Given the description of an element on the screen output the (x, y) to click on. 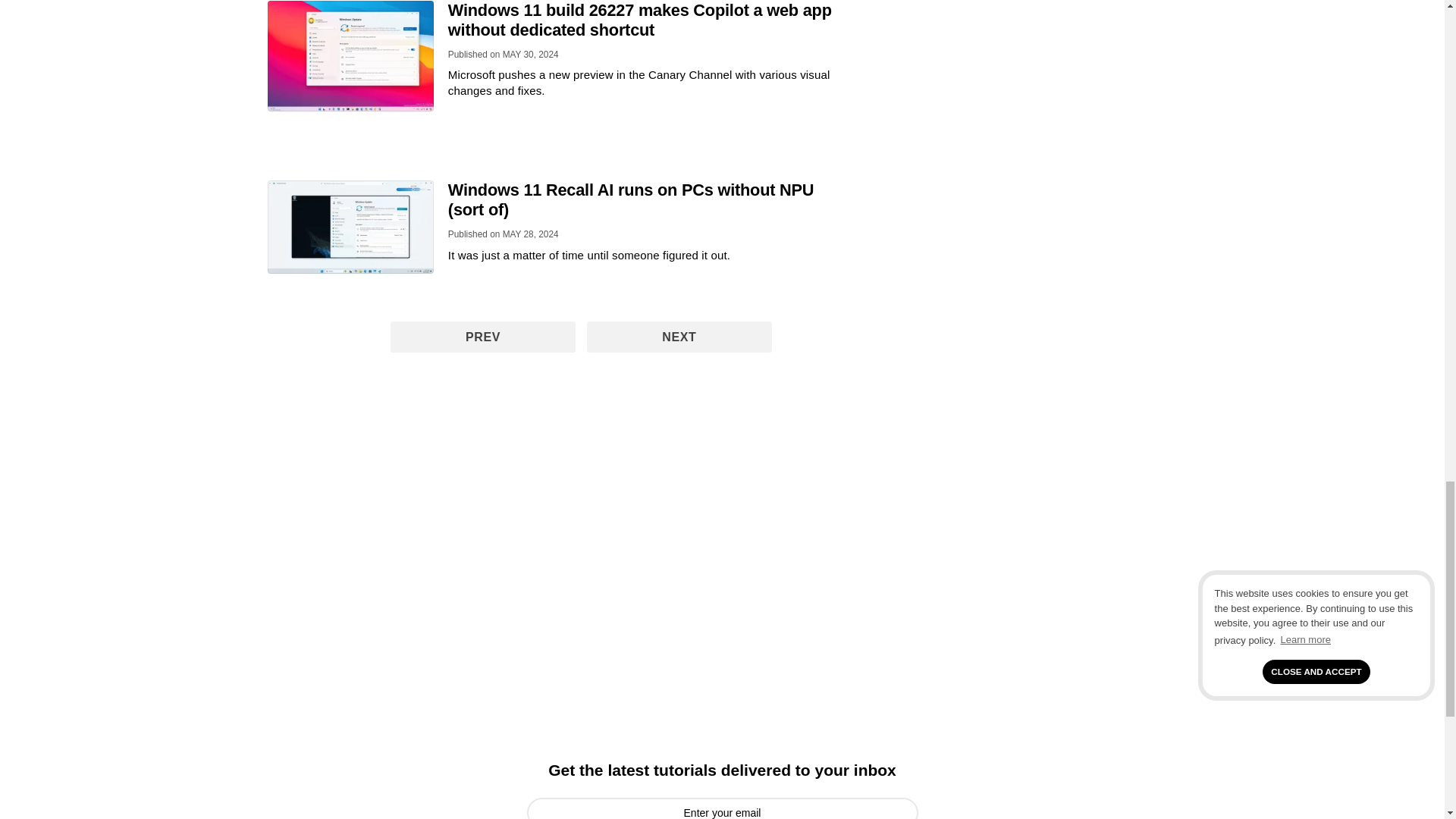
NEXT (678, 336)
3rd party ad content (575, 464)
PREV (482, 336)
